Given the description of an element on the screen output the (x, y) to click on. 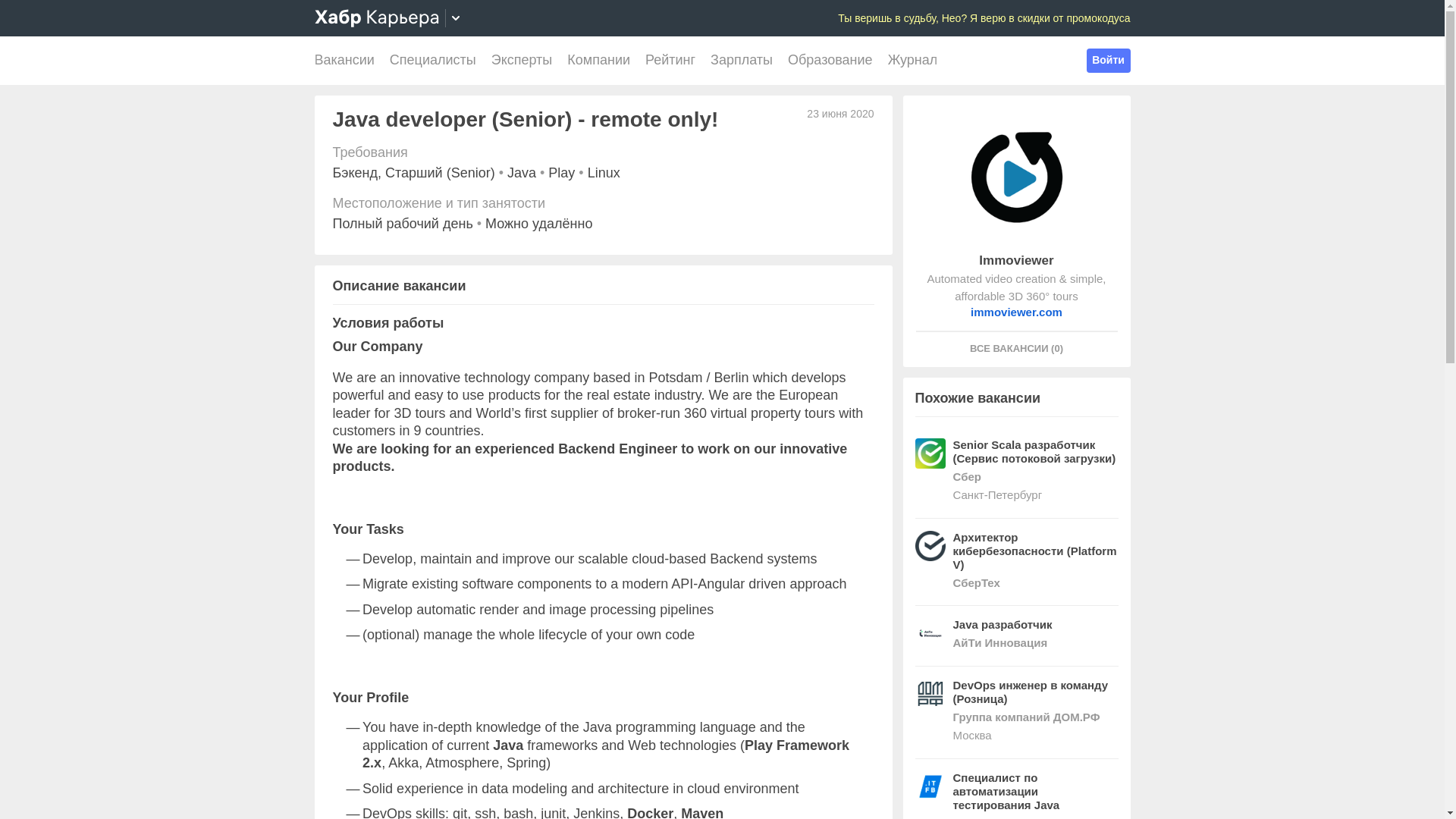
Play (561, 172)
Linux (604, 172)
Java (520, 172)
